Given the description of an element on the screen output the (x, y) to click on. 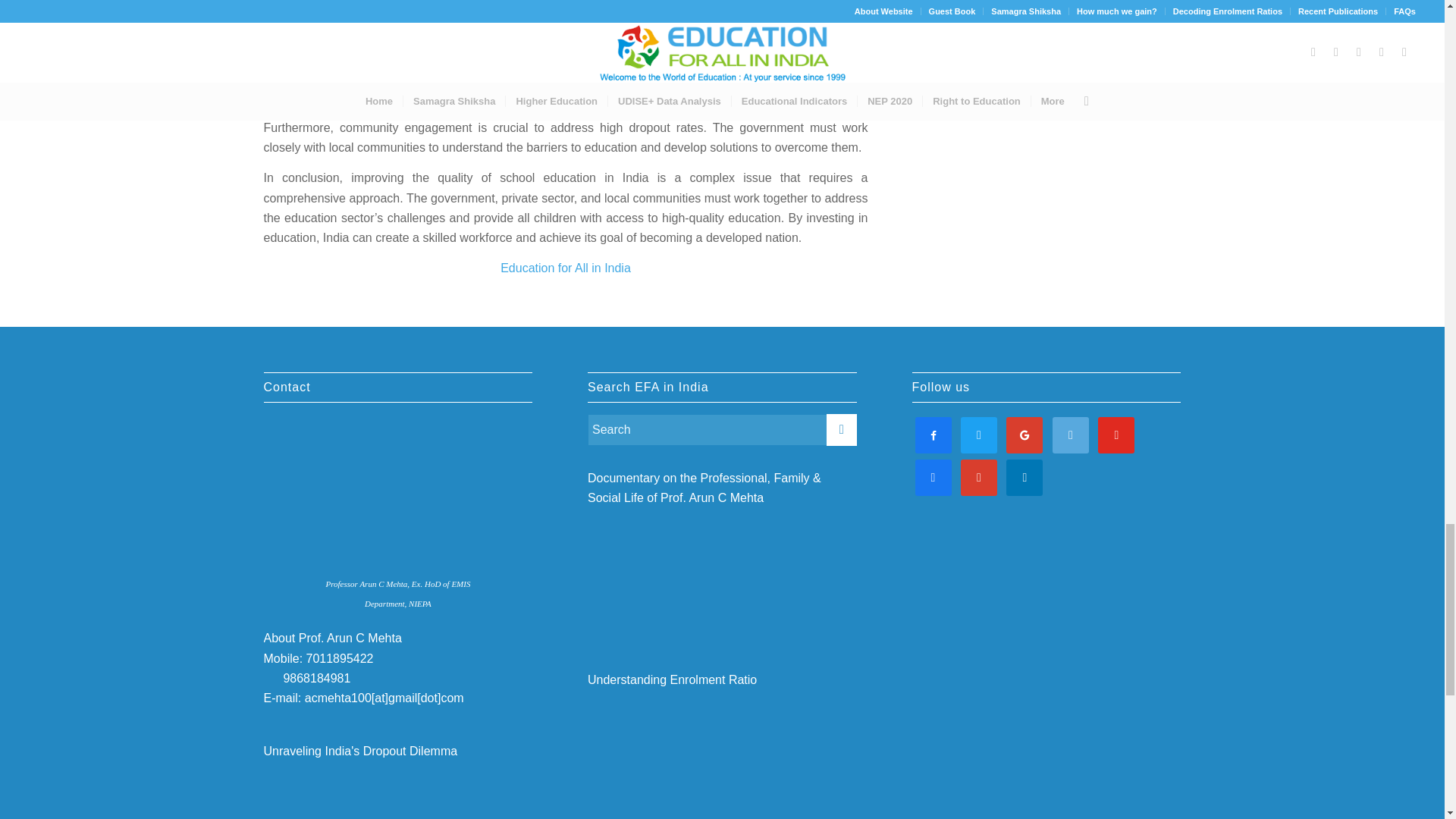
whatsapp logo (269, 675)
YouTube video player (397, 790)
YouTube video player (722, 573)
Education for All in India (565, 267)
